Given the description of an element on the screen output the (x, y) to click on. 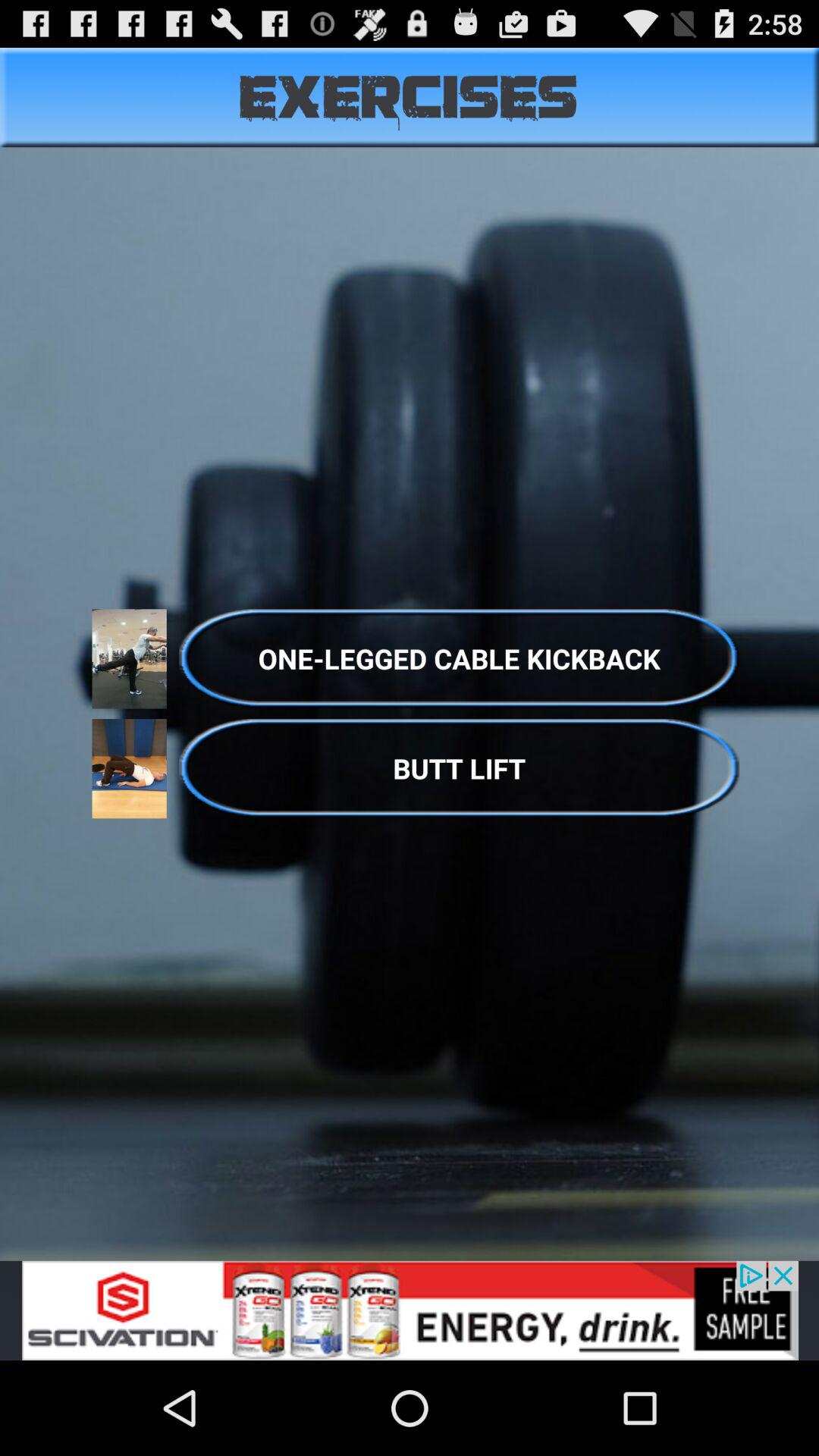
redirects the user to a website (409, 1310)
